Given the description of an element on the screen output the (x, y) to click on. 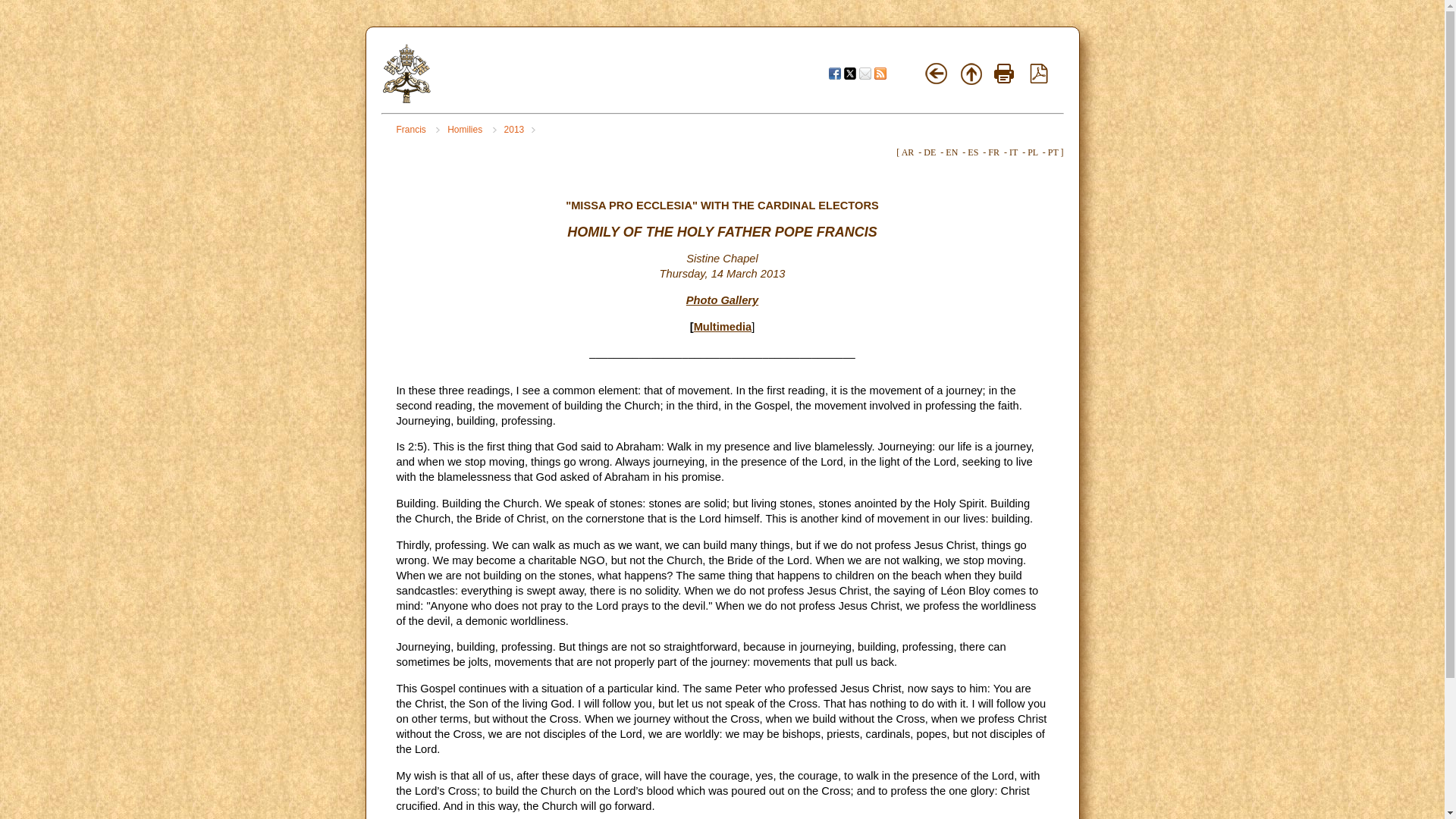
Feed RSS (880, 73)
Mail (864, 73)
Photo Gallery (721, 300)
EN (951, 152)
PL (1032, 152)
PT (1053, 152)
Francis (417, 129)
pdf (1038, 73)
Facebook (834, 73)
FR (993, 152)
PDF (1038, 79)
AR (907, 152)
Top (971, 73)
Homilies (471, 129)
Back (936, 73)
